Given the description of an element on the screen output the (x, y) to click on. 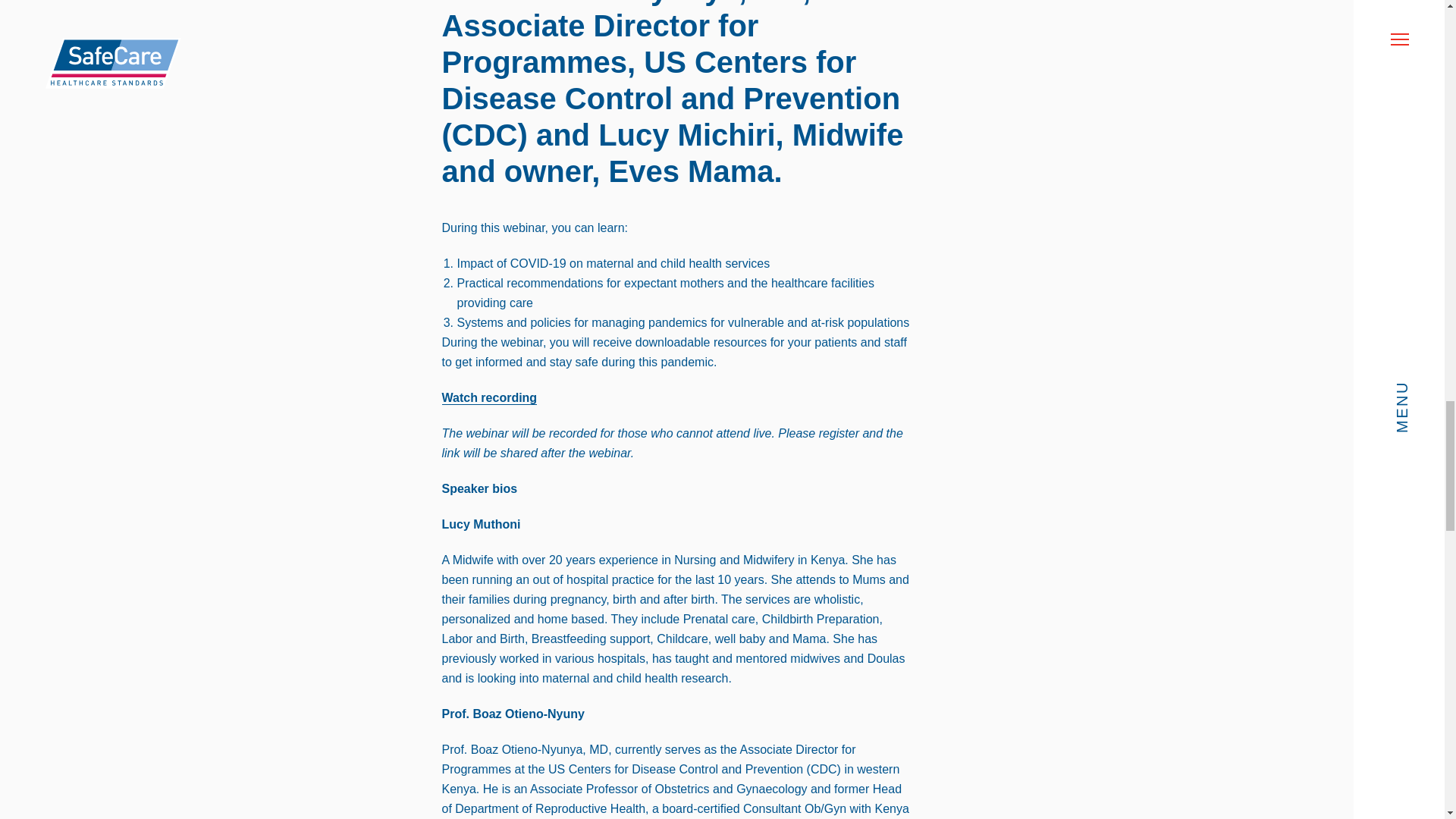
Watch recording (489, 397)
